Given the description of an element on the screen output the (x, y) to click on. 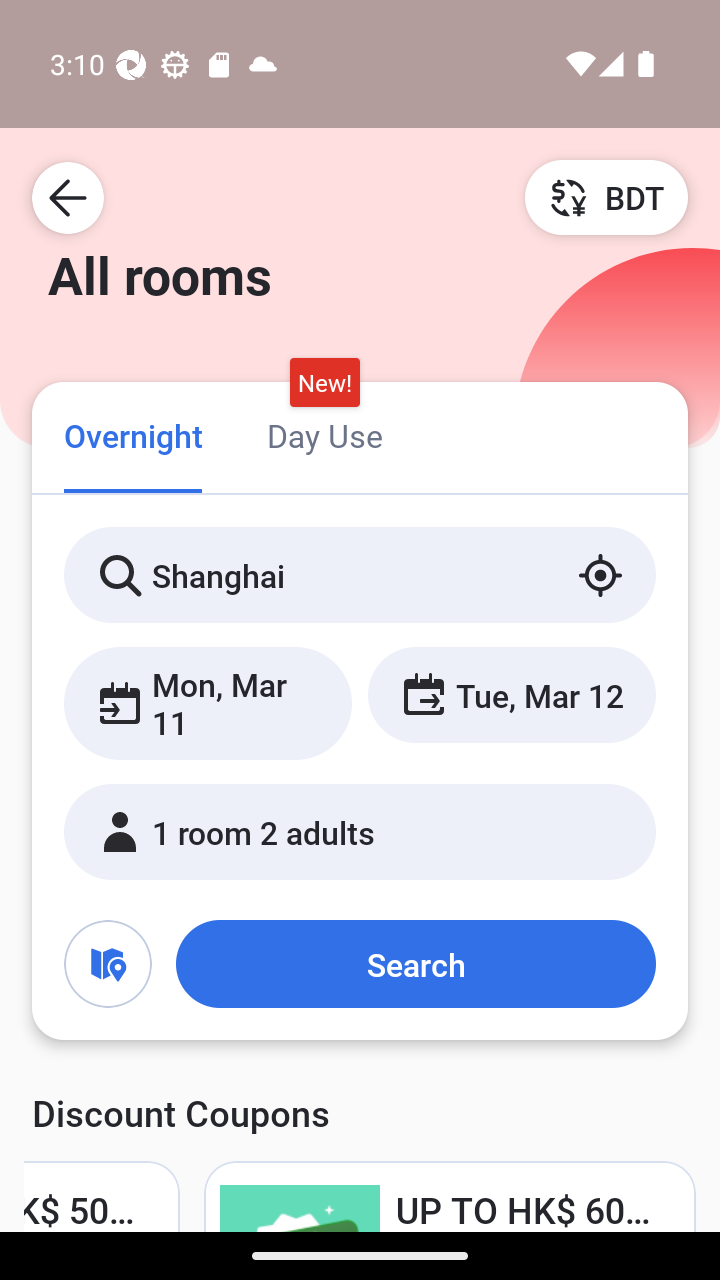
BDT (606, 197)
New! (324, 383)
Day Use (324, 434)
Shanghai (359, 575)
Mon, Mar 11 (208, 703)
Tue, Mar 12 (511, 694)
1 room 2 adults (359, 831)
Search (415, 964)
